Given the description of an element on the screen output the (x, y) to click on. 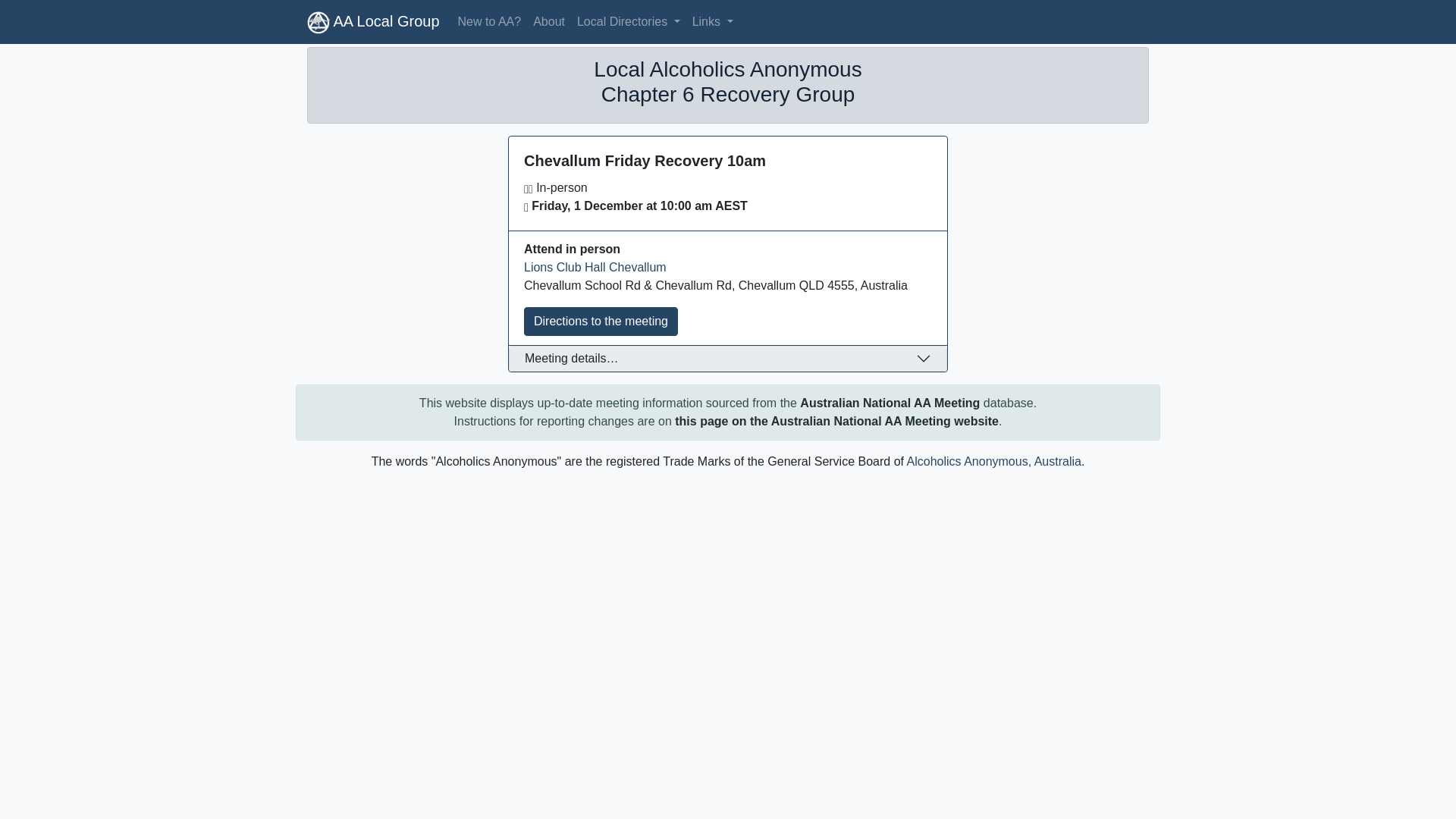
AA Local Group Element type: text (373, 21)
Alcoholics Anonymous, Australia Element type: text (993, 461)
New to AA? Element type: text (489, 21)
Local Directories Element type: text (628, 21)
Australian National AA Meeting Element type: text (889, 402)
Links Element type: text (712, 21)
this page on the Australian National AA Meeting website Element type: text (836, 420)
Directions to the meeting Element type: text (600, 321)
Lions Club Hall Chevallum Element type: text (595, 266)
About Element type: text (549, 21)
